Given the description of an element on the screen output the (x, y) to click on. 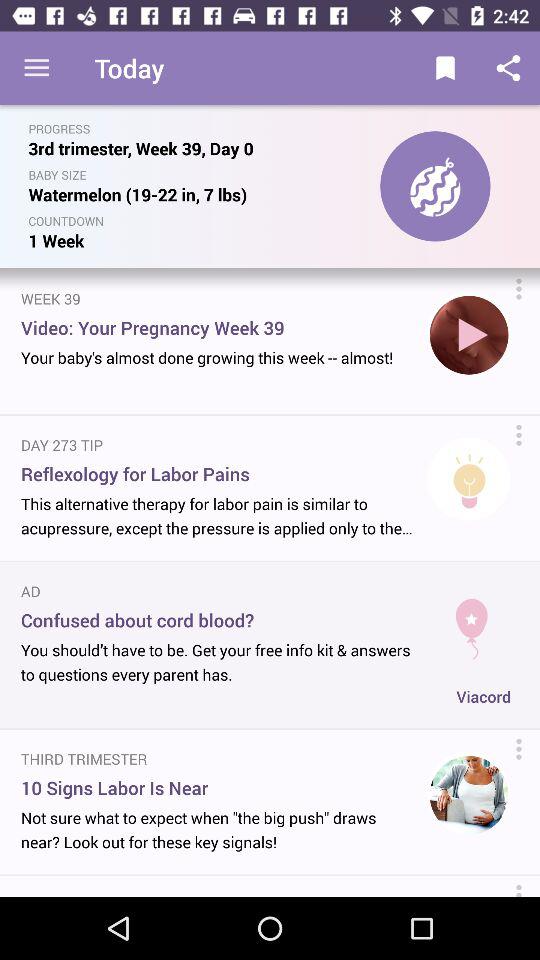
click the icon to the right of the you should t (483, 696)
